Given the description of an element on the screen output the (x, y) to click on. 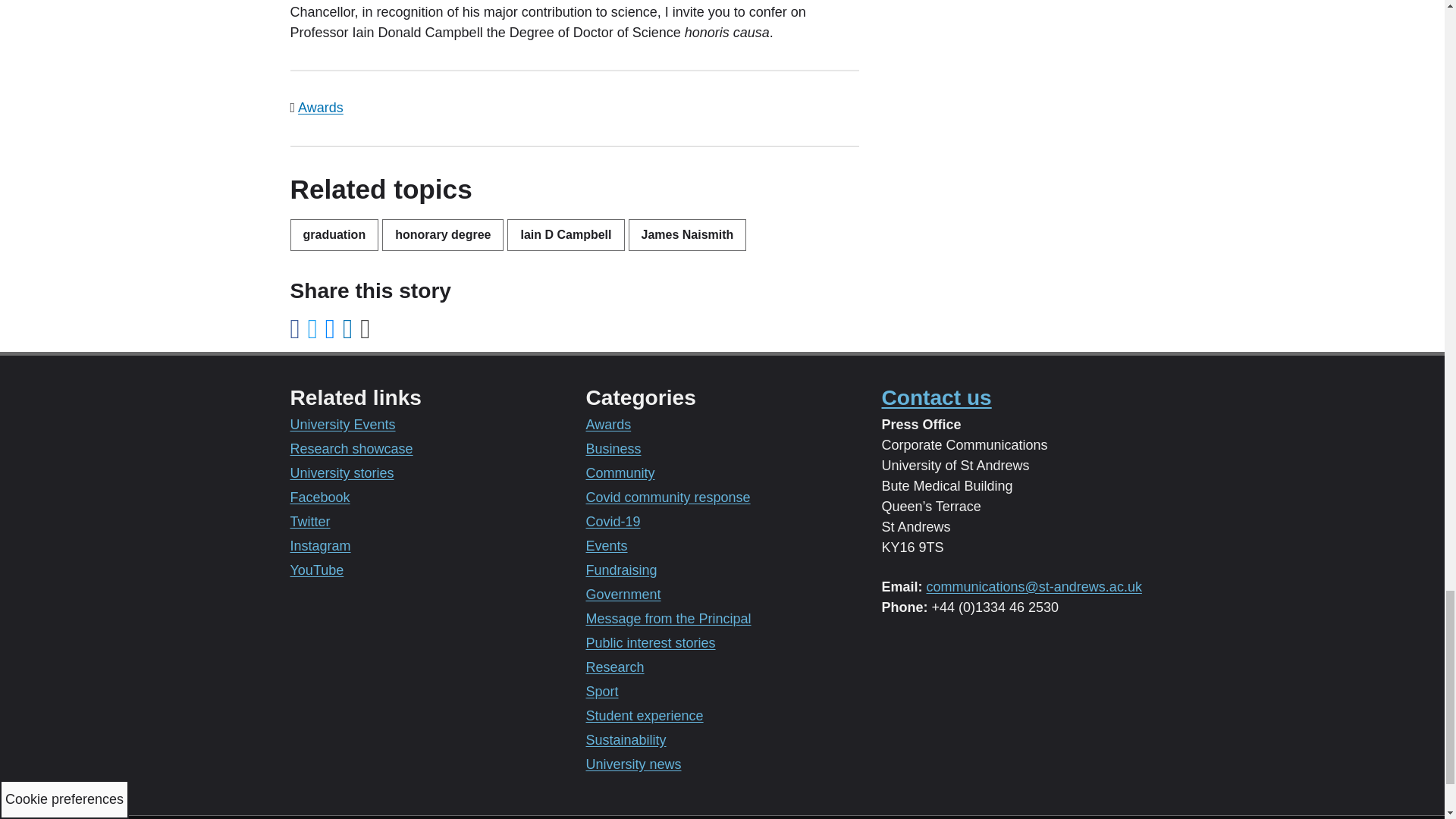
honorary degree (442, 234)
Iain D Campbell (565, 234)
graduation (333, 234)
Awards (320, 107)
James Naismith (687, 234)
